Given the description of an element on the screen output the (x, y) to click on. 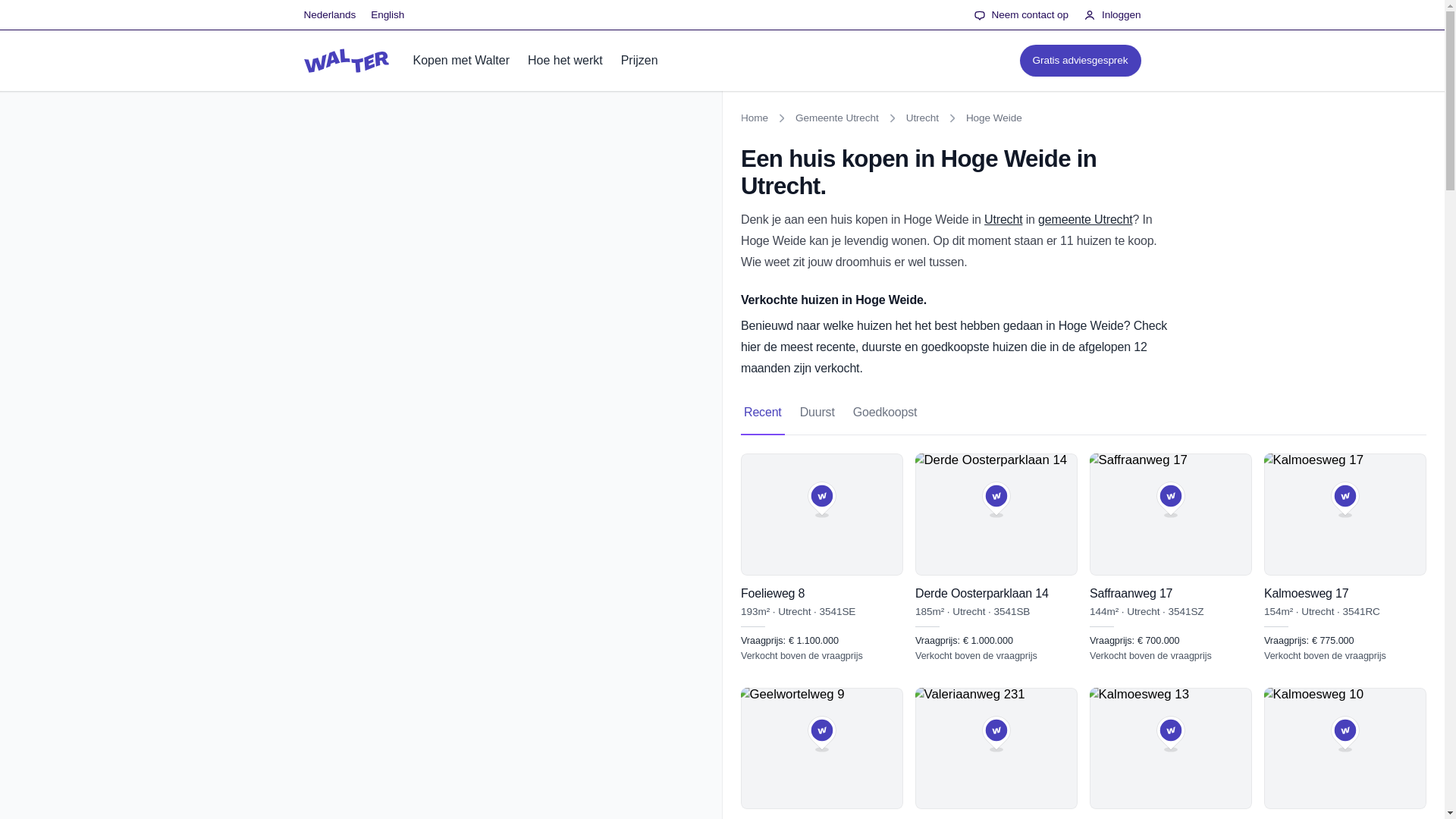
Nederlands (328, 14)
Inloggen (1111, 14)
Gratis adviesgesprek (1079, 60)
Neem contact op (1021, 14)
Kalmoesweg 13, Utrecht (1170, 753)
Valeriaanweg 231, Utrecht (996, 753)
Geelwortelweg 9, Utrecht (821, 753)
Utrecht (1083, 412)
Utrecht (1003, 219)
Kalmoesweg 10, Utrecht (1003, 219)
Duurst (1344, 753)
Recent (817, 412)
Utrecht (762, 412)
Goedkoopst (922, 117)
